Given the description of an element on the screen output the (x, y) to click on. 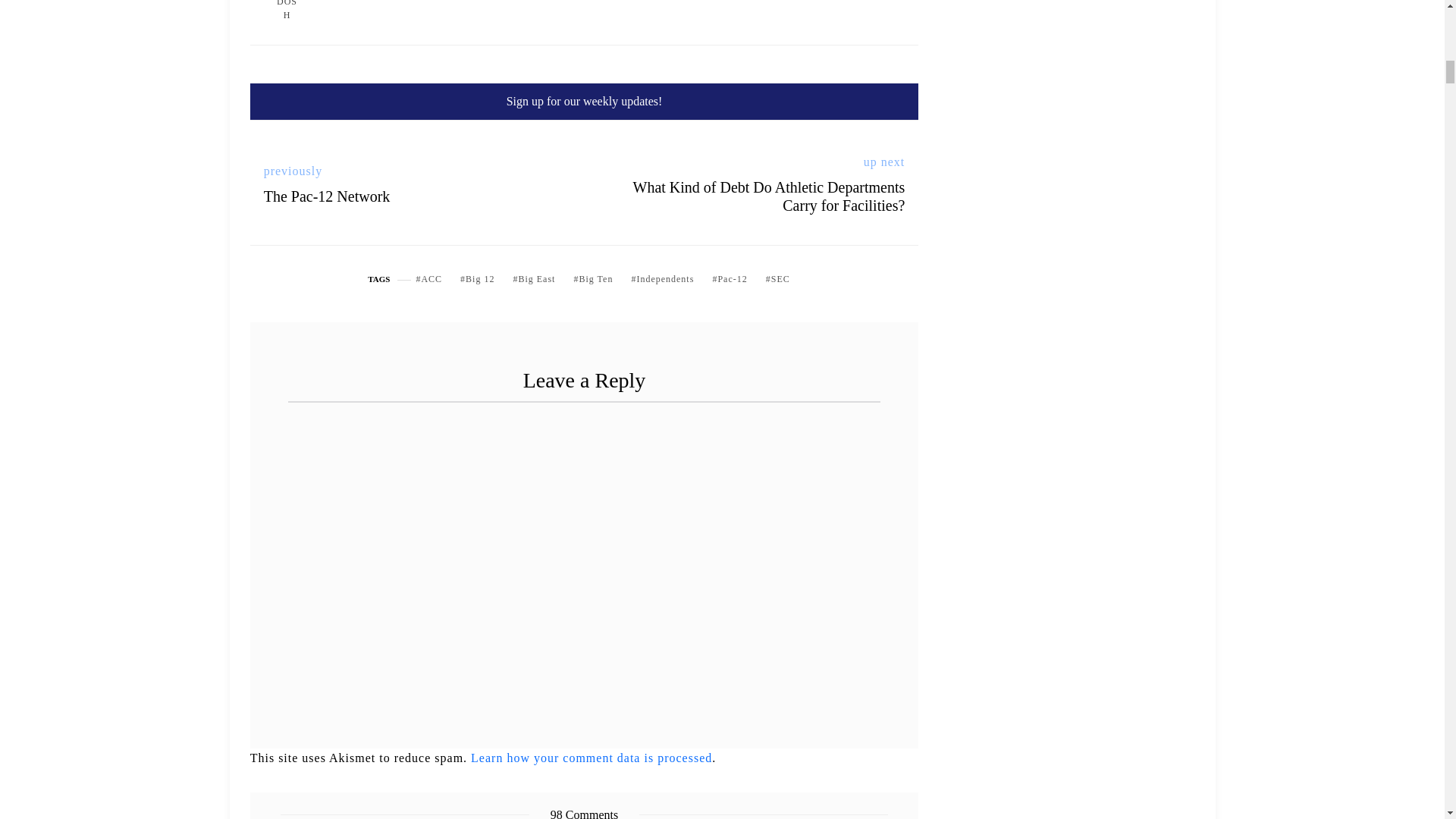
Posts by Kristi Dosh (286, 12)
